Given the description of an element on the screen output the (x, y) to click on. 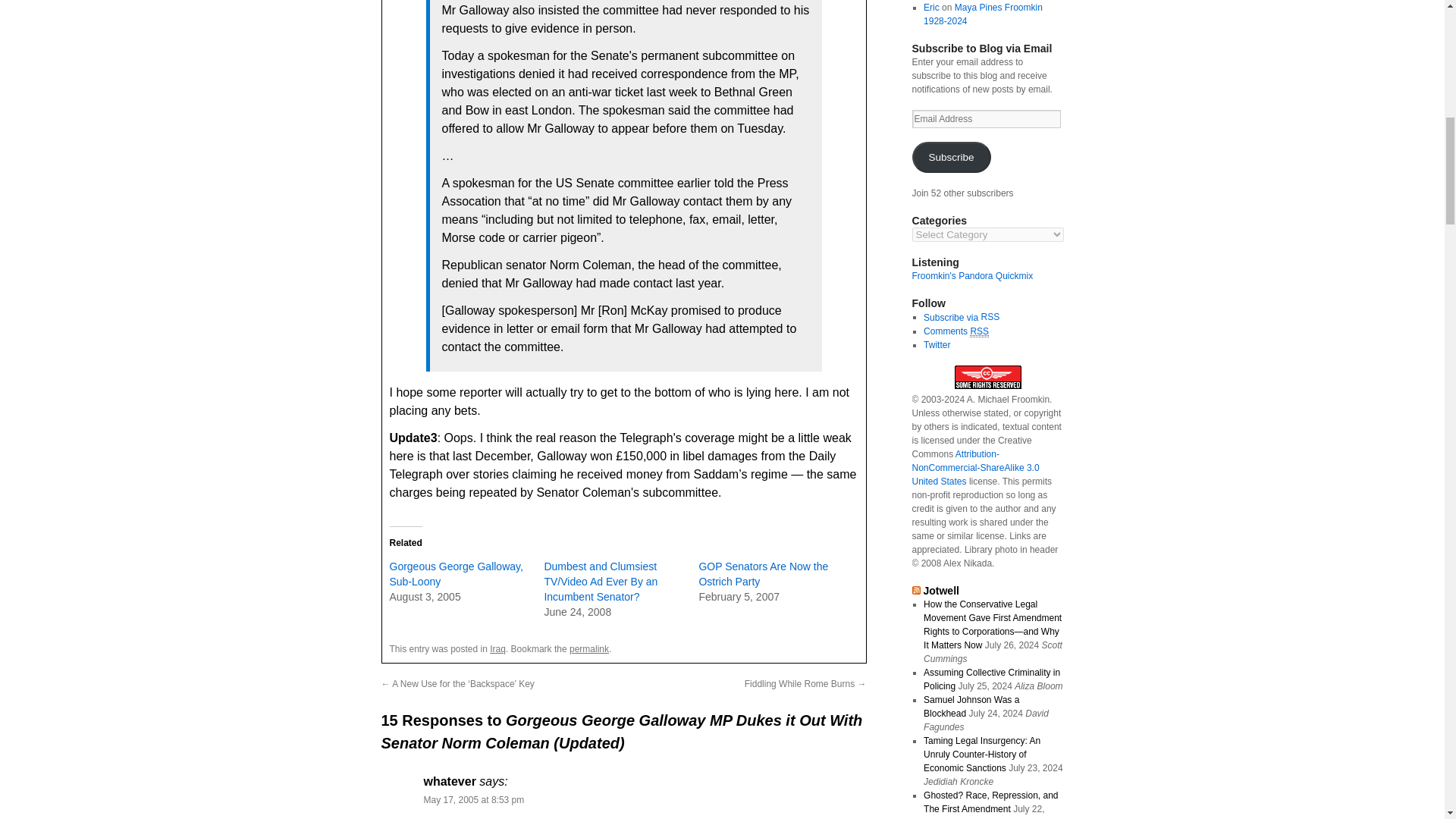
Gorgeous George Galloway, Sub-Loony (456, 574)
May 17, 2005 at 8:53 pm (473, 799)
The latest comments to all posts in RSS (955, 331)
Really Simple Syndication (988, 317)
GOP Senators Are Now the Ostrich Party (763, 574)
Iraq (497, 648)
GOP Senators Are Now the Ostrich Party (763, 574)
permalink (588, 648)
Gorgeous George Galloway, Sub-Loony (456, 574)
